Given the description of an element on the screen output the (x, y) to click on. 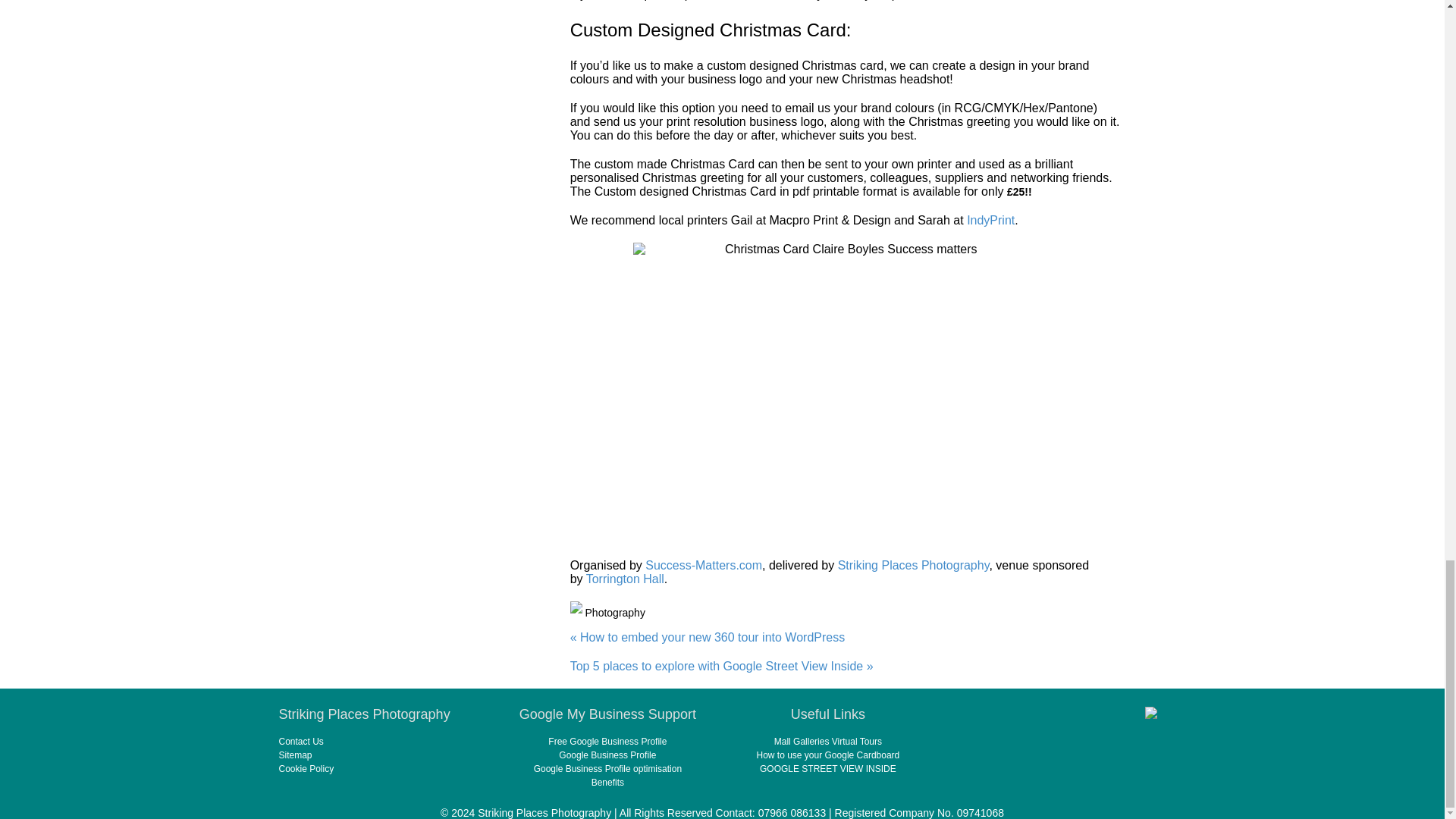
Success Matters, How To For Business Owners (703, 564)
Striking Places Commercial Photography and 3D tours (914, 564)
Indy Print getting you the best price for printing (990, 219)
